Given the description of an element on the screen output the (x, y) to click on. 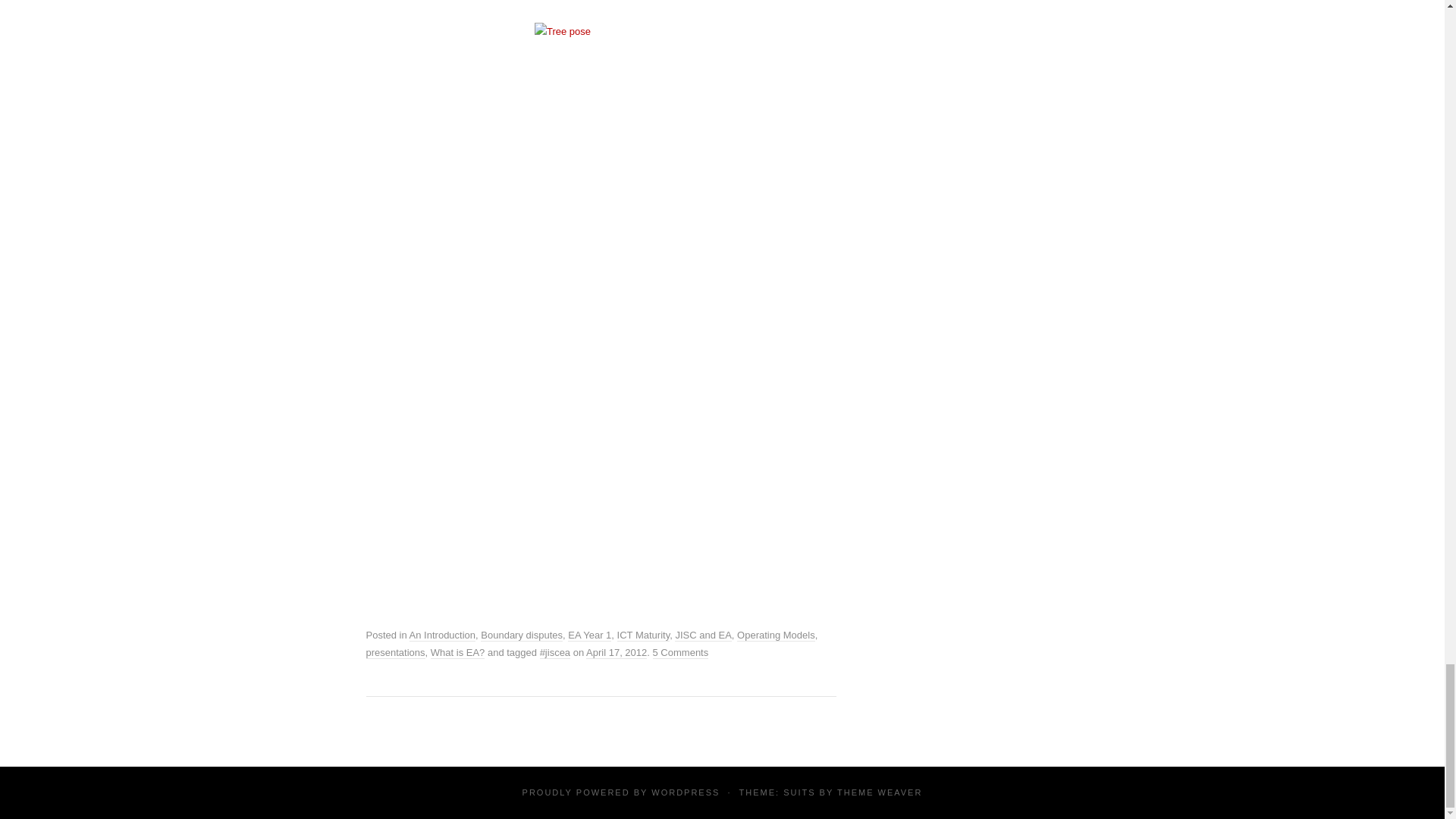
EA Year 1 (589, 635)
ICT Maturity (643, 635)
2:17 pm (616, 653)
An Introduction (442, 635)
Semantic Personal Publishing Platform (684, 791)
presentations (395, 653)
5 Comments (680, 653)
Theme Developer (879, 791)
Boundary disputes (521, 635)
JISC and EA (702, 635)
Operating Models (775, 635)
April 17, 2012 (616, 653)
What is EA? (457, 653)
